Given the description of an element on the screen output the (x, y) to click on. 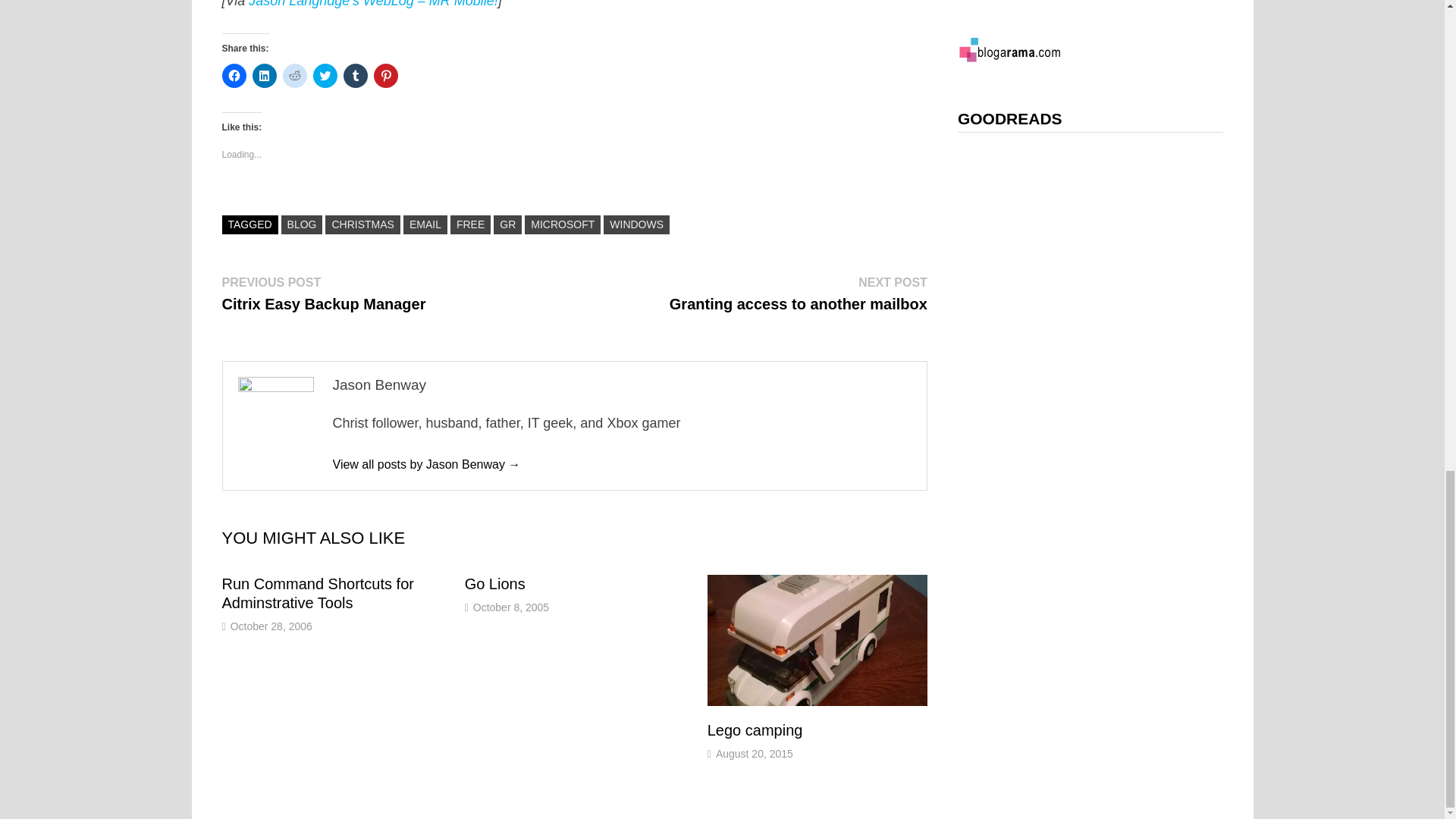
Click to share on Tumblr (354, 75)
Click to share on Reddit (293, 75)
Click to share on Facebook (233, 75)
October 8, 2005 (510, 607)
Go Lions (494, 583)
Jason Benway (798, 293)
WINDOWS (425, 463)
GR (323, 293)
